Given the description of an element on the screen output the (x, y) to click on. 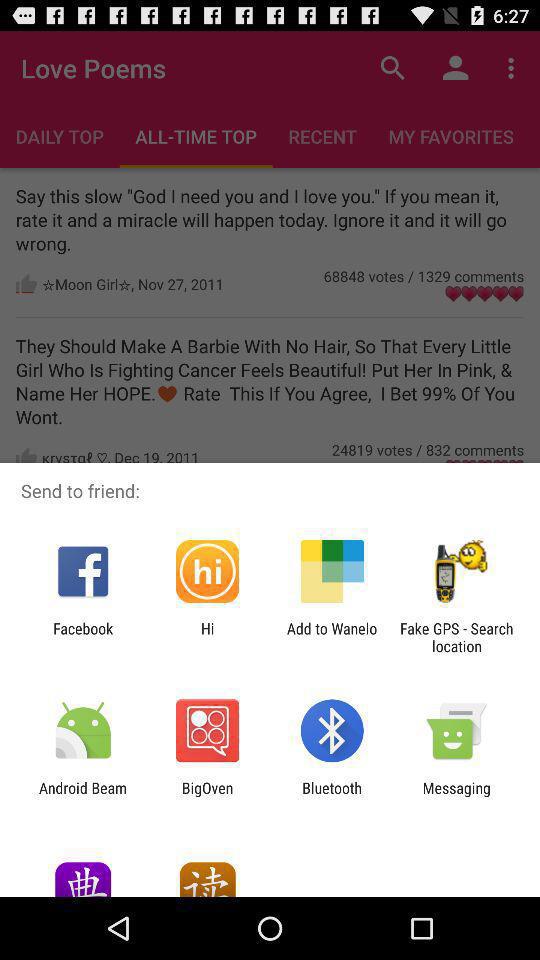
choose fake gps search icon (456, 637)
